Given the description of an element on the screen output the (x, y) to click on. 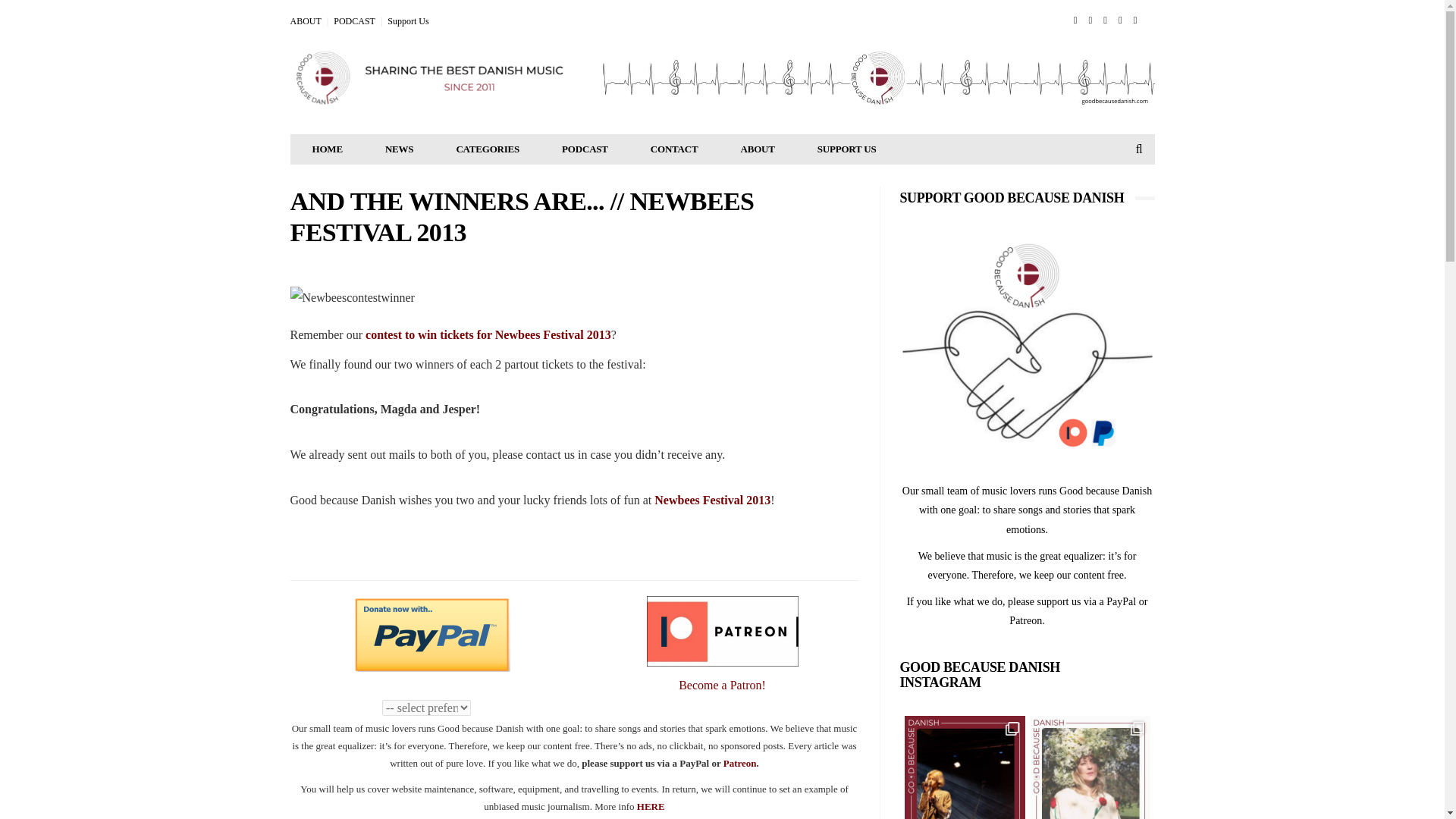
ABOUT (304, 20)
CATEGORIES (486, 149)
PODCAST (584, 149)
Support Us (407, 20)
SUPPORT US (847, 149)
Support GbD (1026, 353)
NEWS (399, 149)
ABOUT (756, 149)
CONTACT (673, 149)
HOME (327, 149)
PODCAST (354, 20)
